Given the description of an element on the screen output the (x, y) to click on. 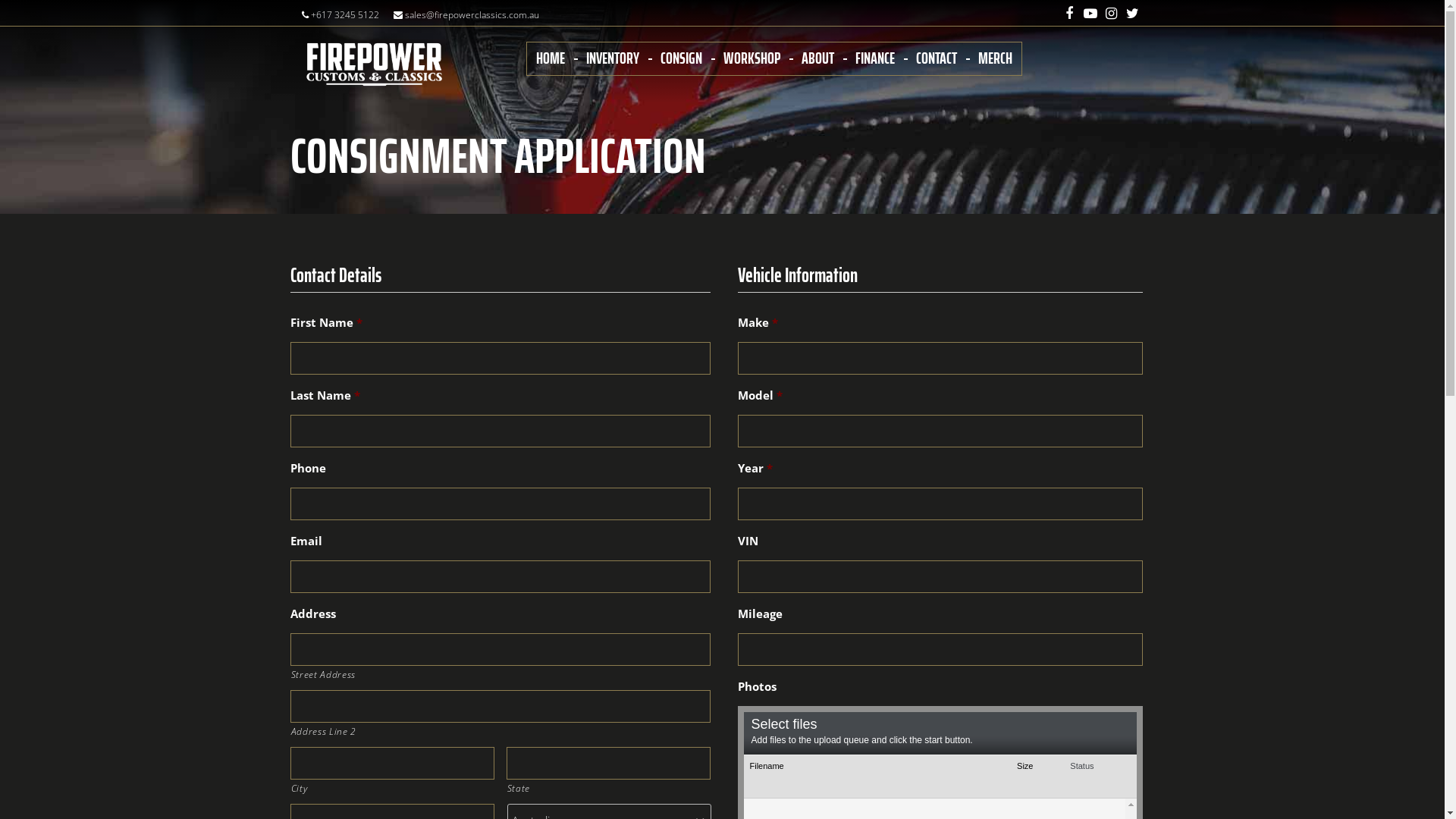
Instagram Element type: hover (1111, 12)
Instagram Element type: hover (1111, 13)
CONTACT Element type: text (936, 57)
YouTube Element type: hover (1090, 12)
Twitter Element type: hover (1132, 13)
Facebook Element type: hover (1068, 12)
FINANCE Element type: text (874, 57)
ABOUT Element type: text (816, 57)
Skip to content Element type: text (0, 0)
YouTube Element type: hover (1089, 13)
INVENTORY Element type: text (611, 57)
Firepower Customs & Classics homepage Element type: hover (373, 64)
CONSIGN Element type: text (680, 57)
WORKSHOP Element type: text (751, 57)
HOME Element type: text (549, 57)
MERCH Element type: text (995, 57)
Twitter Element type: hover (1132, 12)
Facebook Element type: hover (1068, 13)
